Given the description of an element on the screen output the (x, y) to click on. 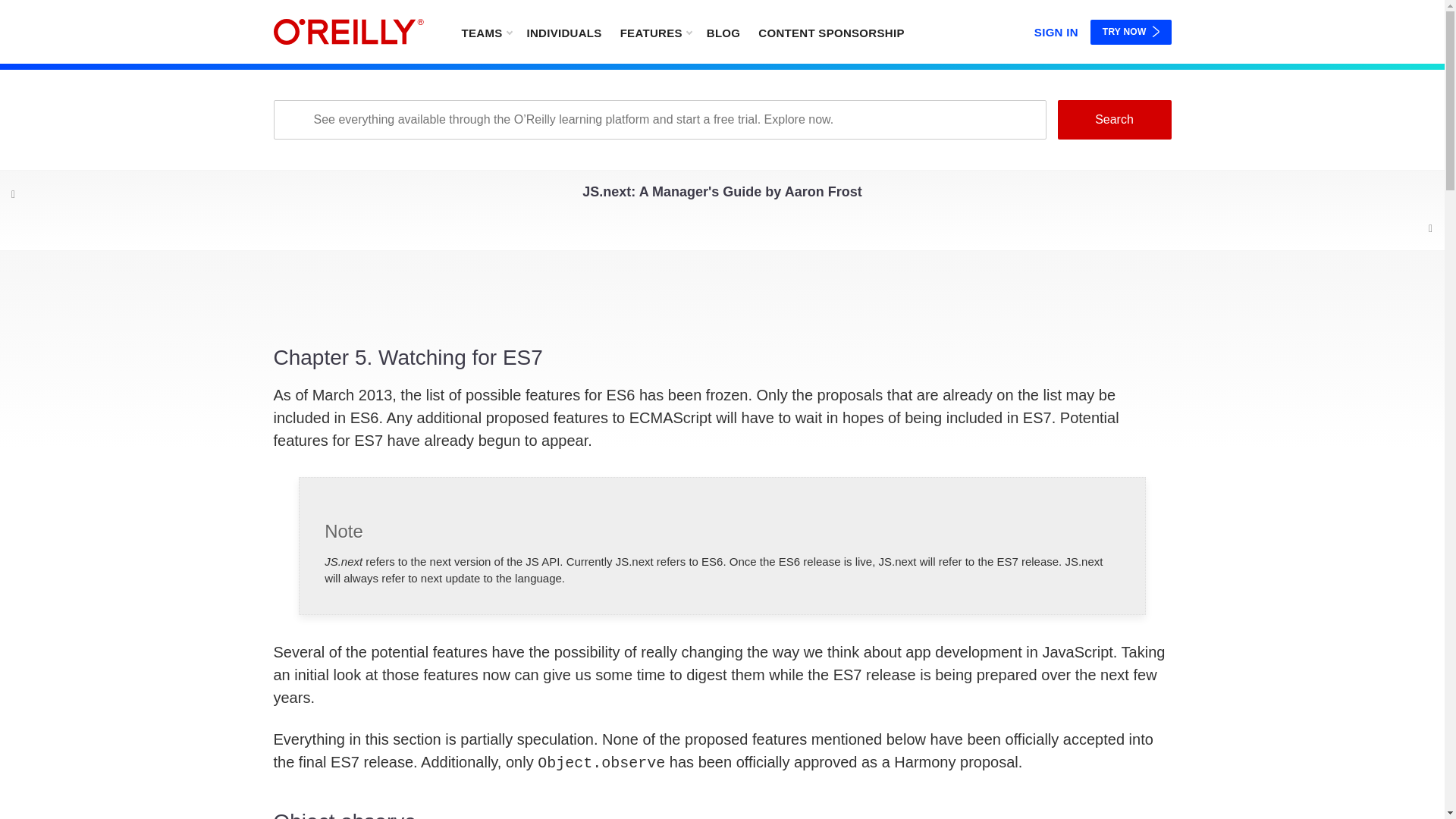
FEATURES (179, 192)
INDIVIDUALS (655, 31)
SIGN IN (563, 31)
Note (1055, 29)
home page (721, 545)
Search (348, 31)
JS.next: A Manager's Guide by Aaron Frost (1113, 119)
TRY NOW (721, 195)
Search (1131, 32)
